Given the description of an element on the screen output the (x, y) to click on. 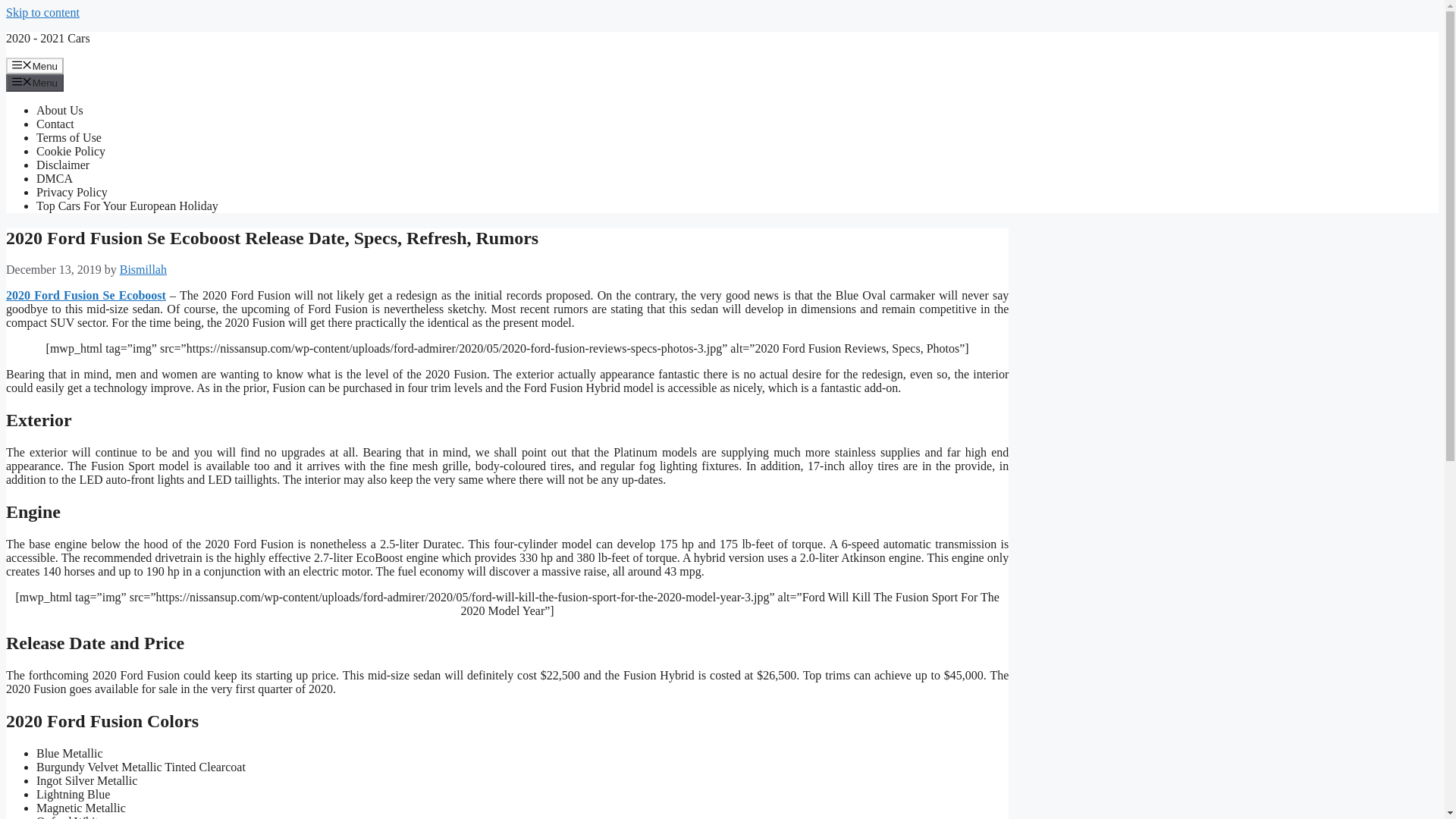
DMCA (54, 178)
Top Cars For Your European Holiday (127, 205)
Menu (34, 82)
Privacy Policy (71, 192)
Menu (34, 65)
Bismillah (143, 269)
2020 Ford Fusion Se Ecoboost (85, 295)
Skip to content (42, 11)
View all posts by Bismillah (143, 269)
Cookie Policy (70, 151)
Terms of Use (68, 137)
Disclaimer (62, 164)
Skip to content (42, 11)
About Us (59, 110)
2020 - 2021 Cars (47, 38)
